Given the description of an element on the screen output the (x, y) to click on. 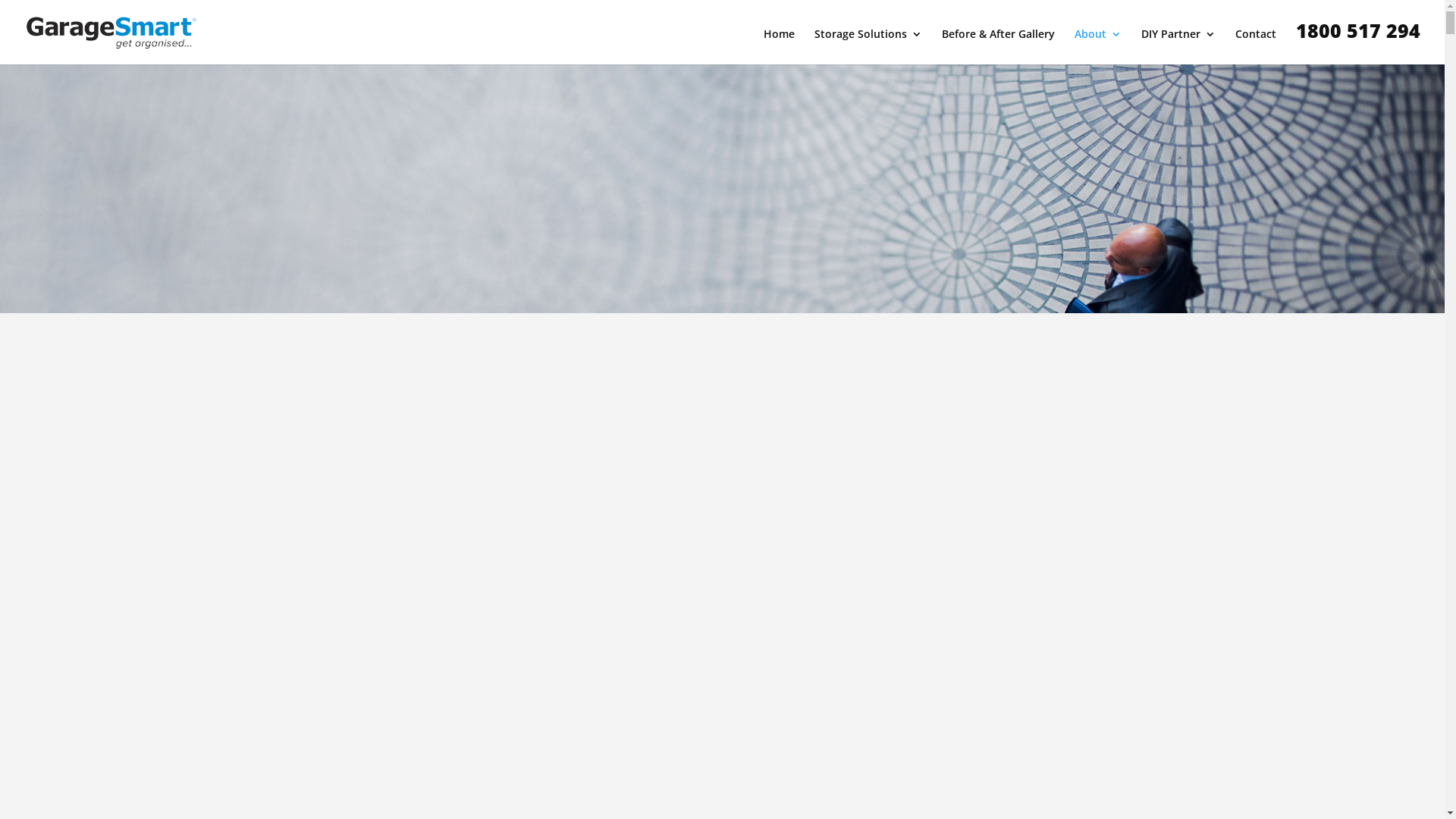
About Element type: text (1097, 46)
1800 517 294 Element type: text (1357, 42)
Home Element type: text (778, 46)
Storage Solutions Element type: text (868, 46)
Search Element type: text (1106, 526)
Contact Element type: text (1255, 46)
Before & After Gallery Element type: text (997, 46)
DIY Partner Element type: text (1178, 46)
